Given the description of an element on the screen output the (x, y) to click on. 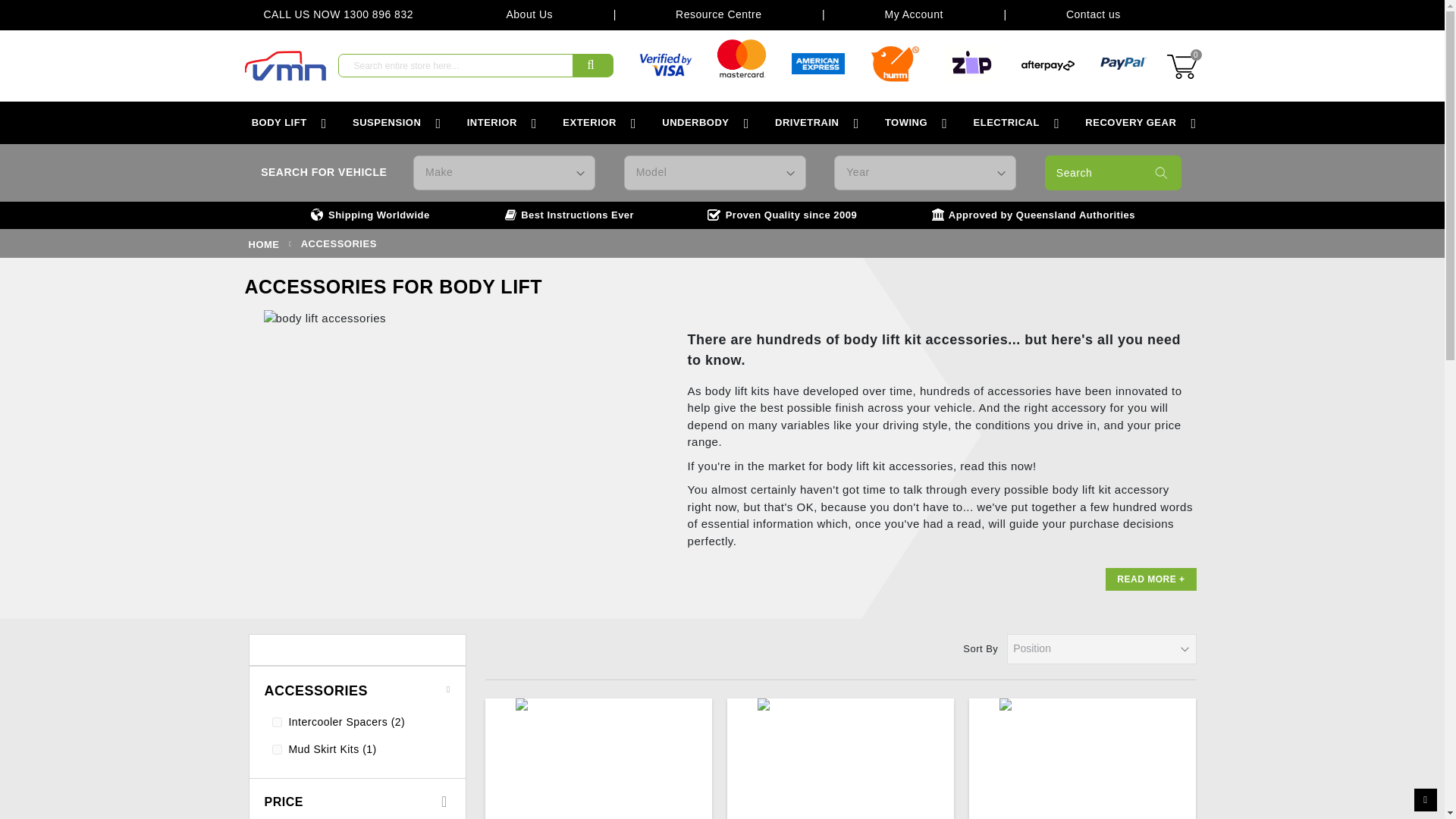
Go to Home Page (263, 244)
BODY LIFT (277, 122)
submit (592, 65)
120 (275, 749)
119 (275, 722)
About Us (529, 14)
0 (1182, 65)
Resource Centre (718, 14)
CALL US NOW 1300 896 832 (354, 14)
SUSPENSION (386, 122)
My Account (912, 14)
Contact us (1093, 14)
